Given the description of an element on the screen output the (x, y) to click on. 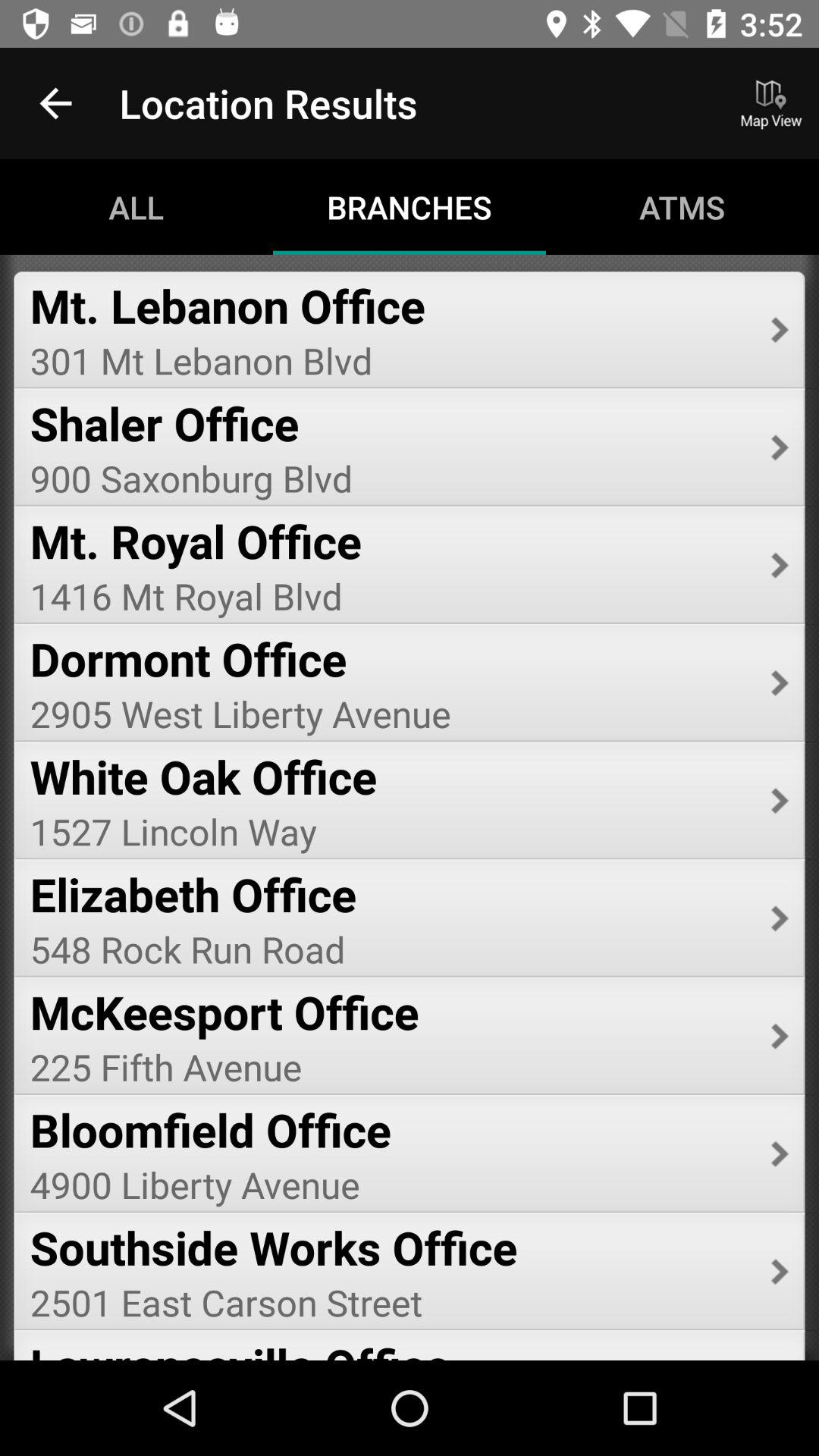
open icon to the right of location results (771, 103)
